Given the description of an element on the screen output the (x, y) to click on. 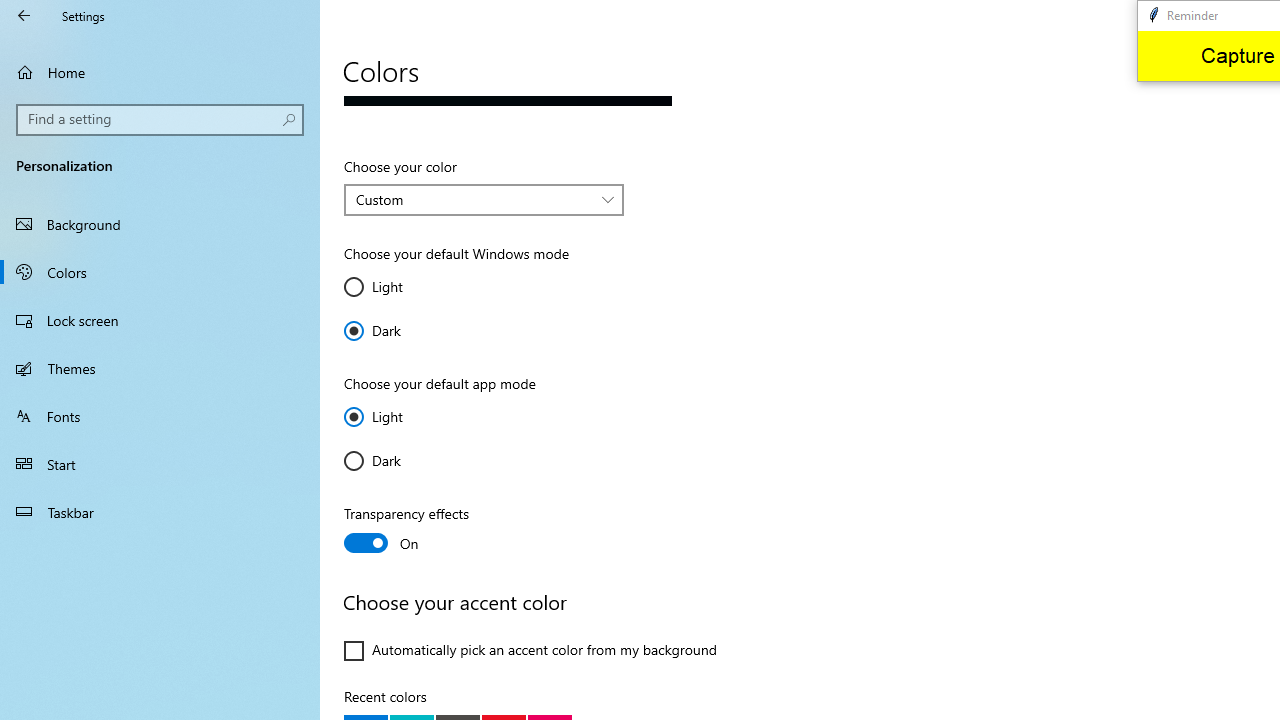
Transparency effects (417, 530)
Choose your color (484, 200)
Taskbar (160, 511)
Light (403, 416)
Custom (473, 199)
Background (160, 223)
Automatically pick an accent color from my background (531, 650)
Search box, Find a setting (160, 119)
Lock screen (160, 319)
Themes (160, 367)
Dark (403, 460)
Colors (160, 271)
